Given the description of an element on the screen output the (x, y) to click on. 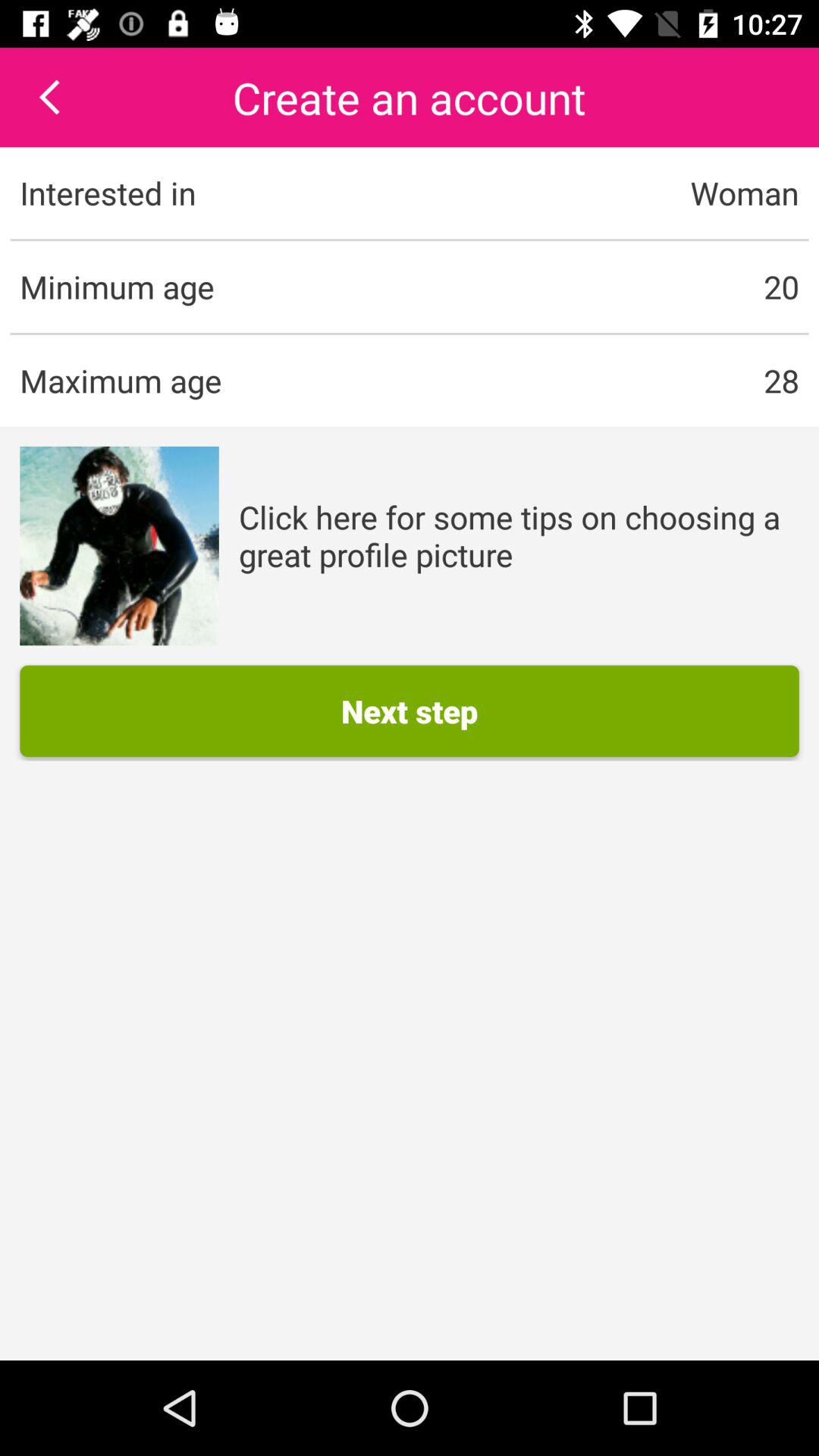
turn on item below maximum age app (118, 545)
